Given the description of an element on the screen output the (x, y) to click on. 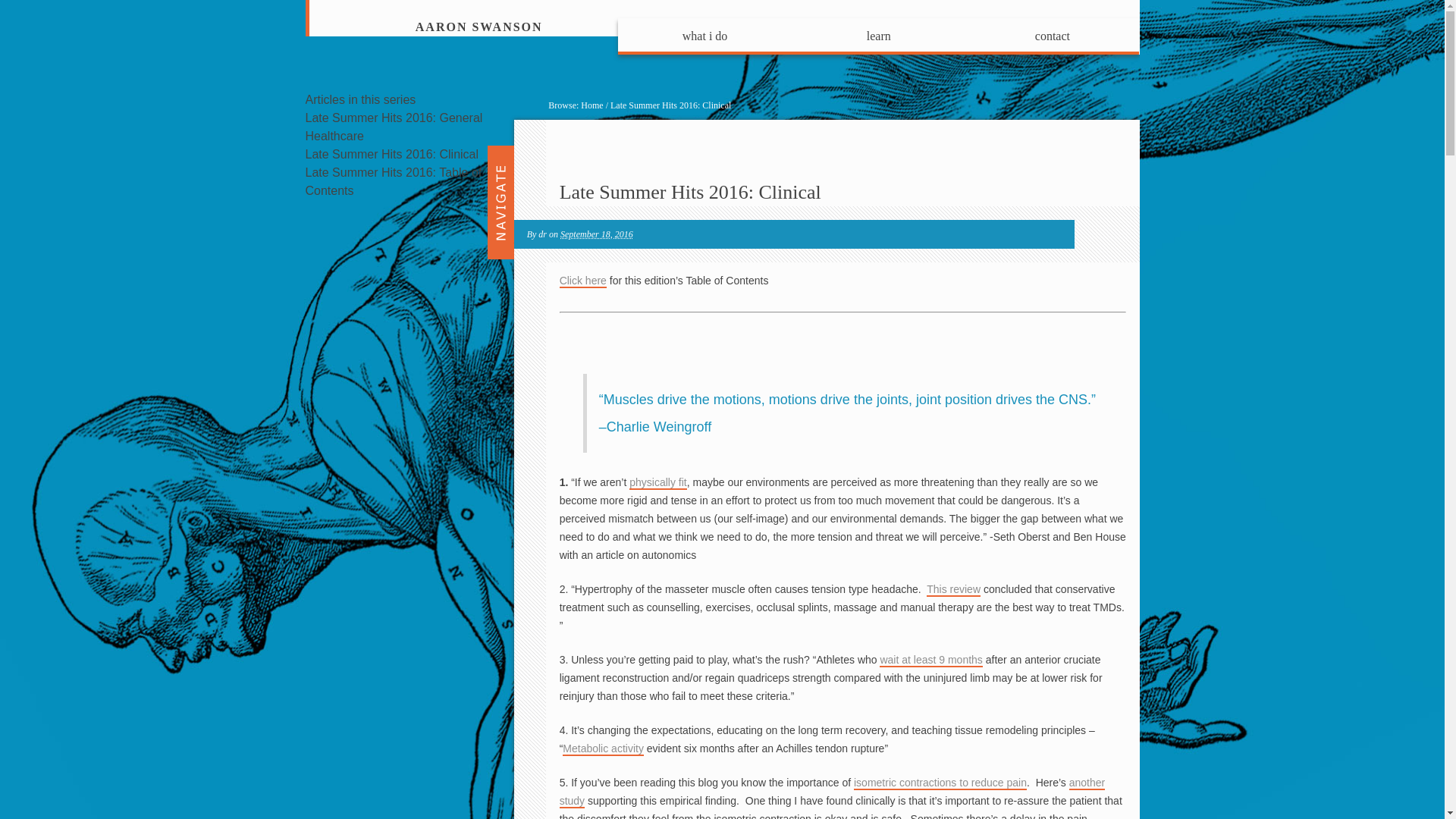
wait at least 9 months (930, 660)
Sunday, September 18th, 2016, 1:31 pm (596, 234)
Metabolic activity (602, 748)
what i do (704, 36)
Click here (583, 281)
Late Summer Hits 2016: General Healthcare (392, 126)
Late Summer Hits 2016: Table of Contents (392, 181)
This review (952, 590)
physically fit (656, 482)
Late Summer Hits 2016: Clinical (690, 191)
contact (1052, 36)
another study (832, 792)
isometric contractions to reduce pain (939, 783)
AARON SWANSON (478, 26)
Home (591, 104)
